Given the description of an element on the screen output the (x, y) to click on. 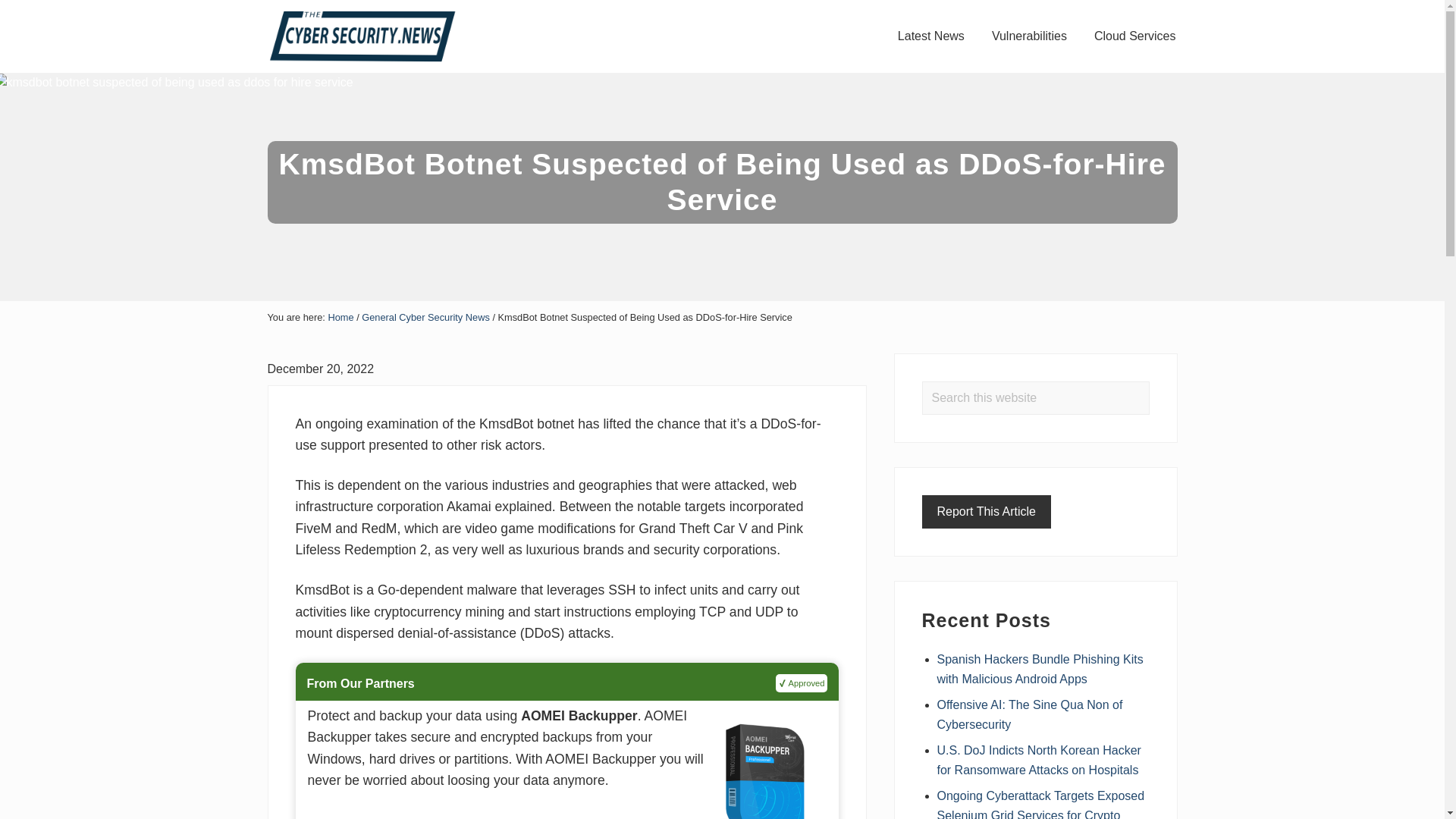
Report This Article (986, 511)
Cloud Services (1134, 35)
General Cyber Security News (425, 317)
Home (340, 317)
Latest News (930, 35)
Vulnerabilities (1028, 35)
Offensive AI: The Sine Qua Non of Cybersecurity (1029, 714)
